Given the description of an element on the screen output the (x, y) to click on. 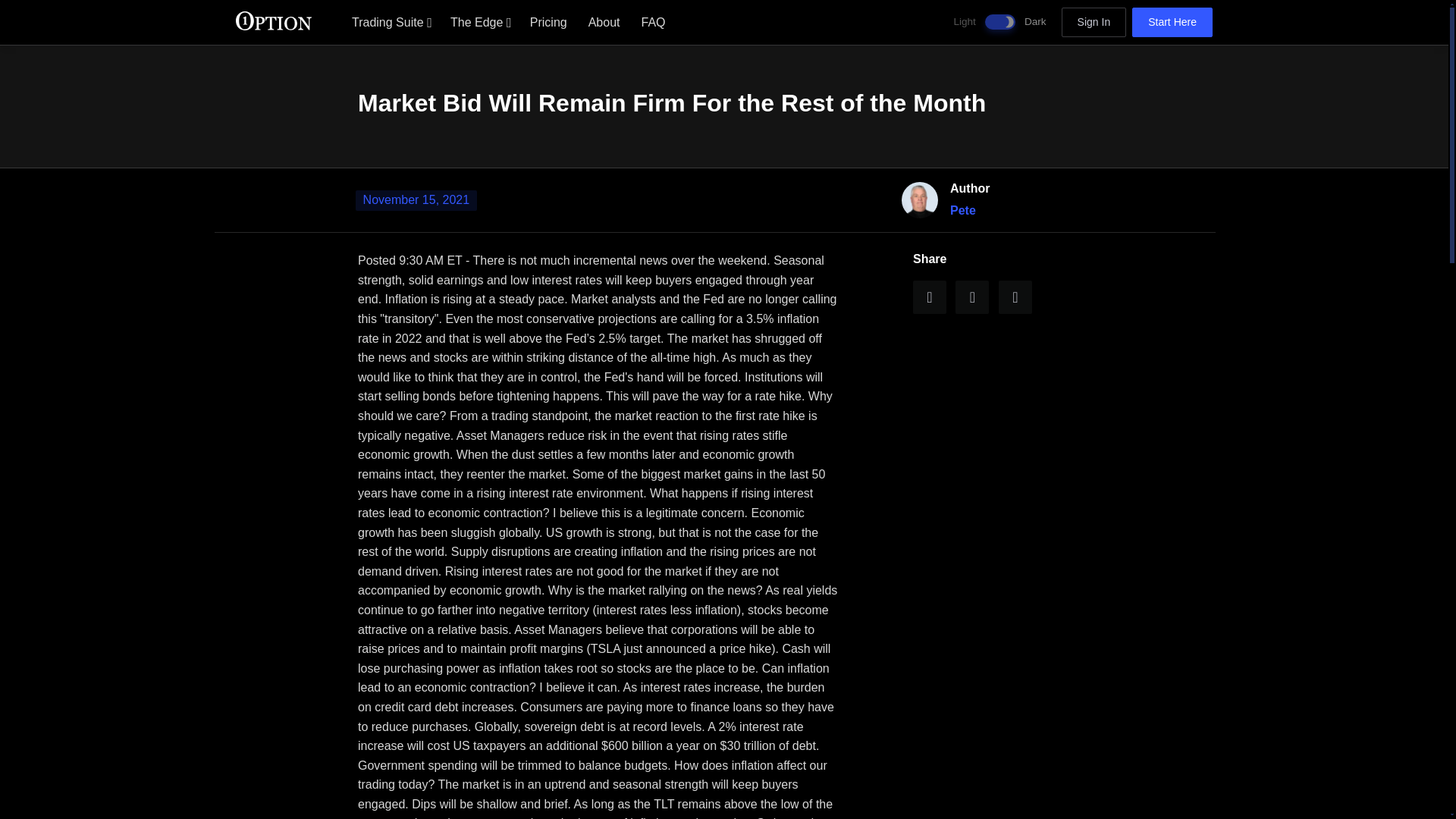
Start Here (1172, 22)
Trading Suite (389, 21)
Pricing (548, 21)
The Edge (479, 21)
Pete (962, 210)
FAQ (653, 21)
on (999, 21)
Sign In (1093, 22)
About (604, 21)
